Given the description of an element on the screen output the (x, y) to click on. 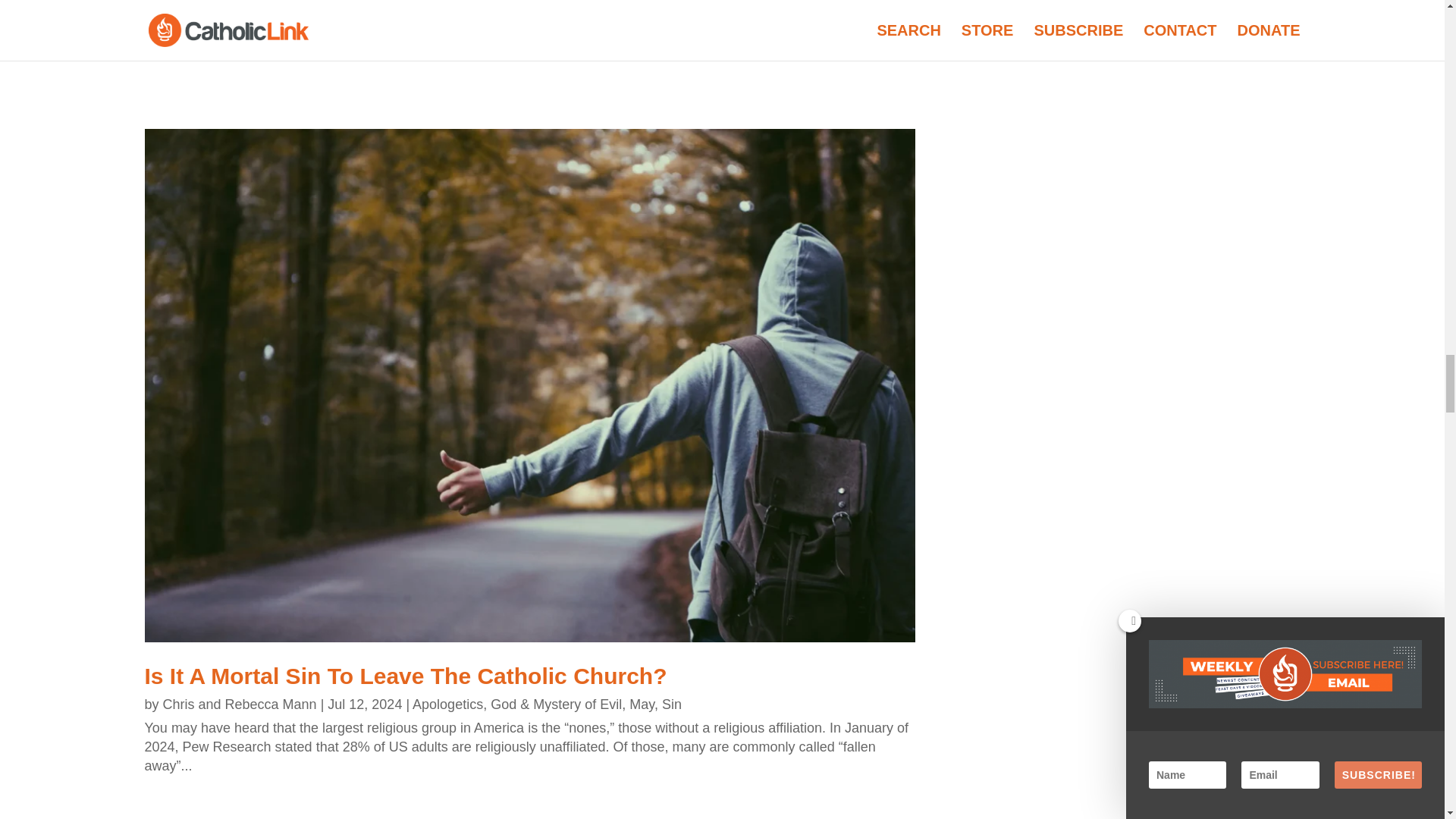
Posts by Chris and Rebecca Mann (240, 703)
